Given the description of an element on the screen output the (x, y) to click on. 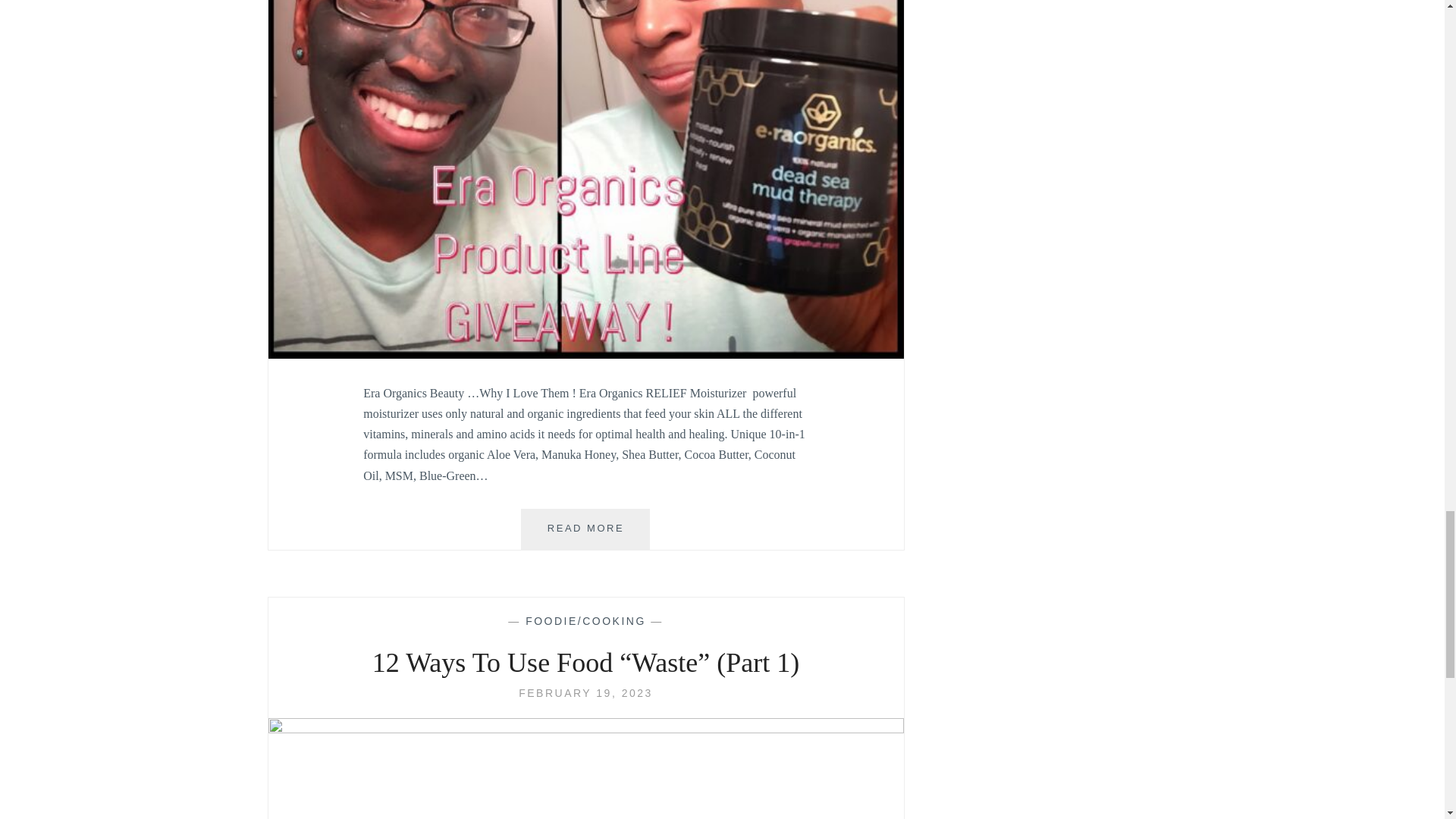
FEBRUARY 19, 2023 (585, 693)
Why I Love Era Organics Beauty Products (585, 528)
